Given the description of an element on the screen output the (x, y) to click on. 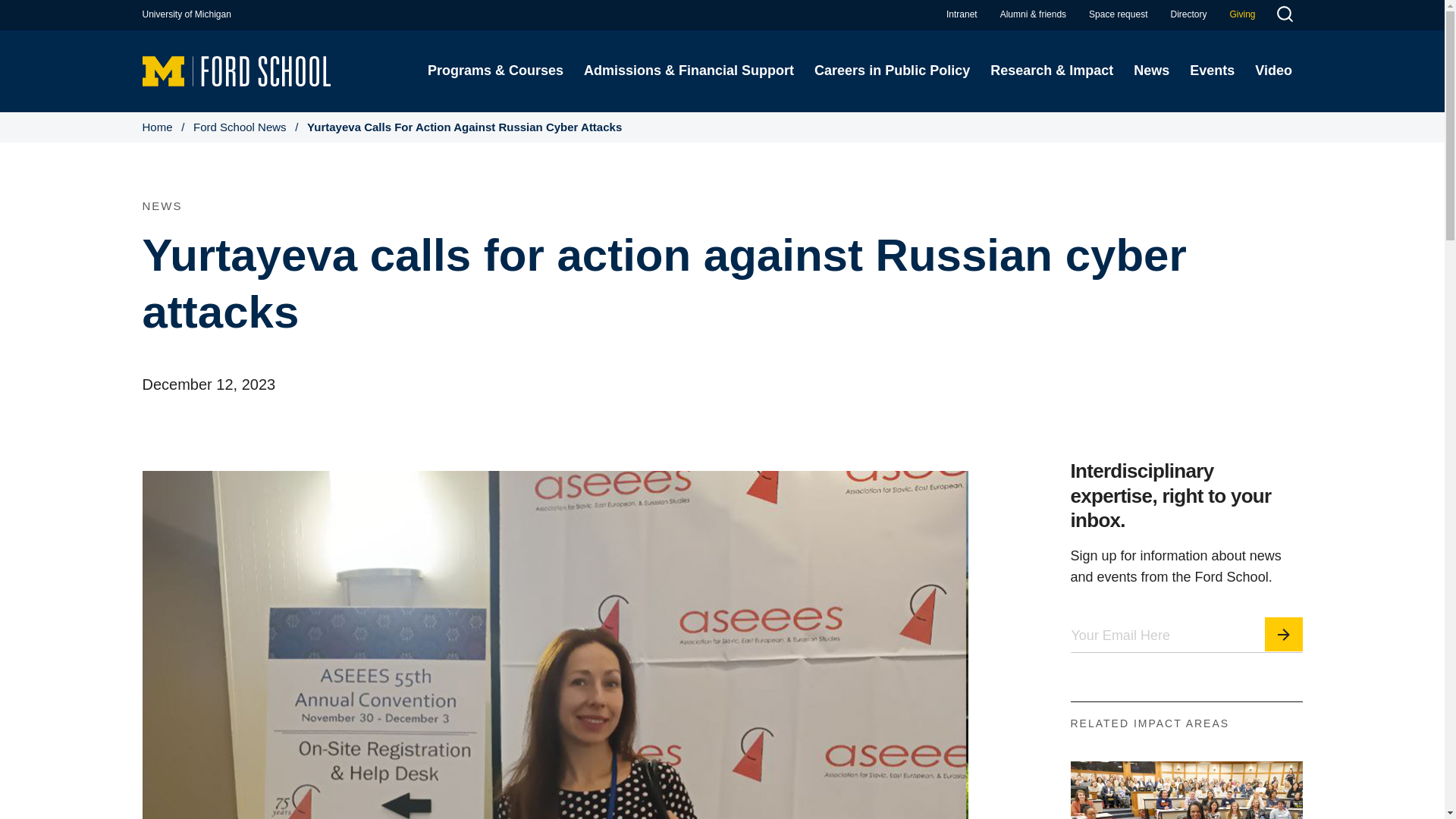
Directory (1188, 14)
Search Toggle (1283, 15)
Home (236, 69)
Ford School academic program and course information (494, 71)
Learn more about our facilities and how to reserve them (1118, 14)
Giving (1241, 14)
Give to the Ford School (1241, 14)
Ford School faculty, staff, and student contacts (1188, 14)
A connected community to each other, and to the world (1032, 14)
